Given the description of an element on the screen output the (x, y) to click on. 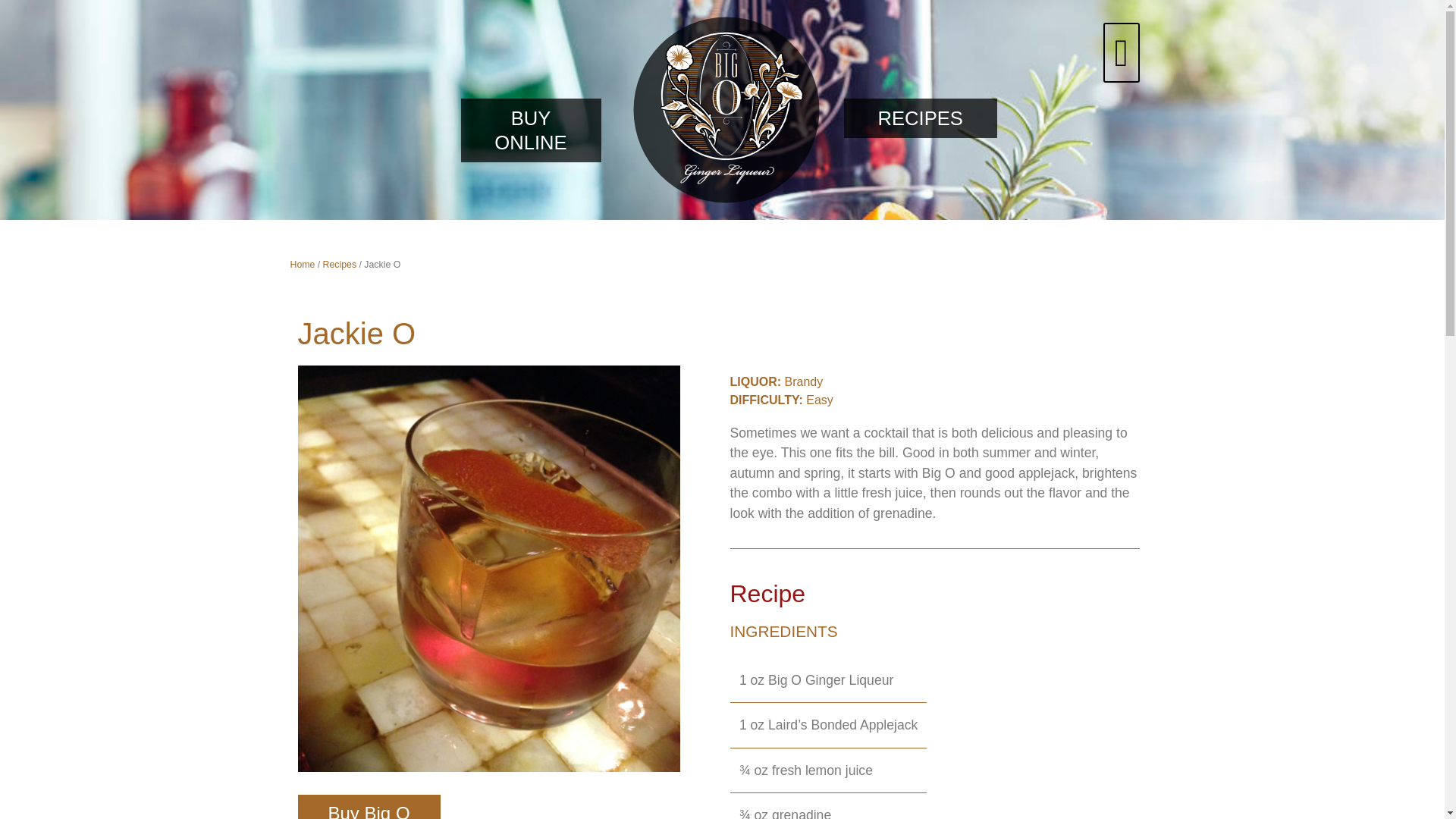
Recipes (339, 264)
Home (301, 264)
RECIPES (919, 118)
Buy Big O (368, 806)
Brandy (803, 381)
BUY ONLINE (531, 130)
Easy (819, 399)
